Given the description of an element on the screen output the (x, y) to click on. 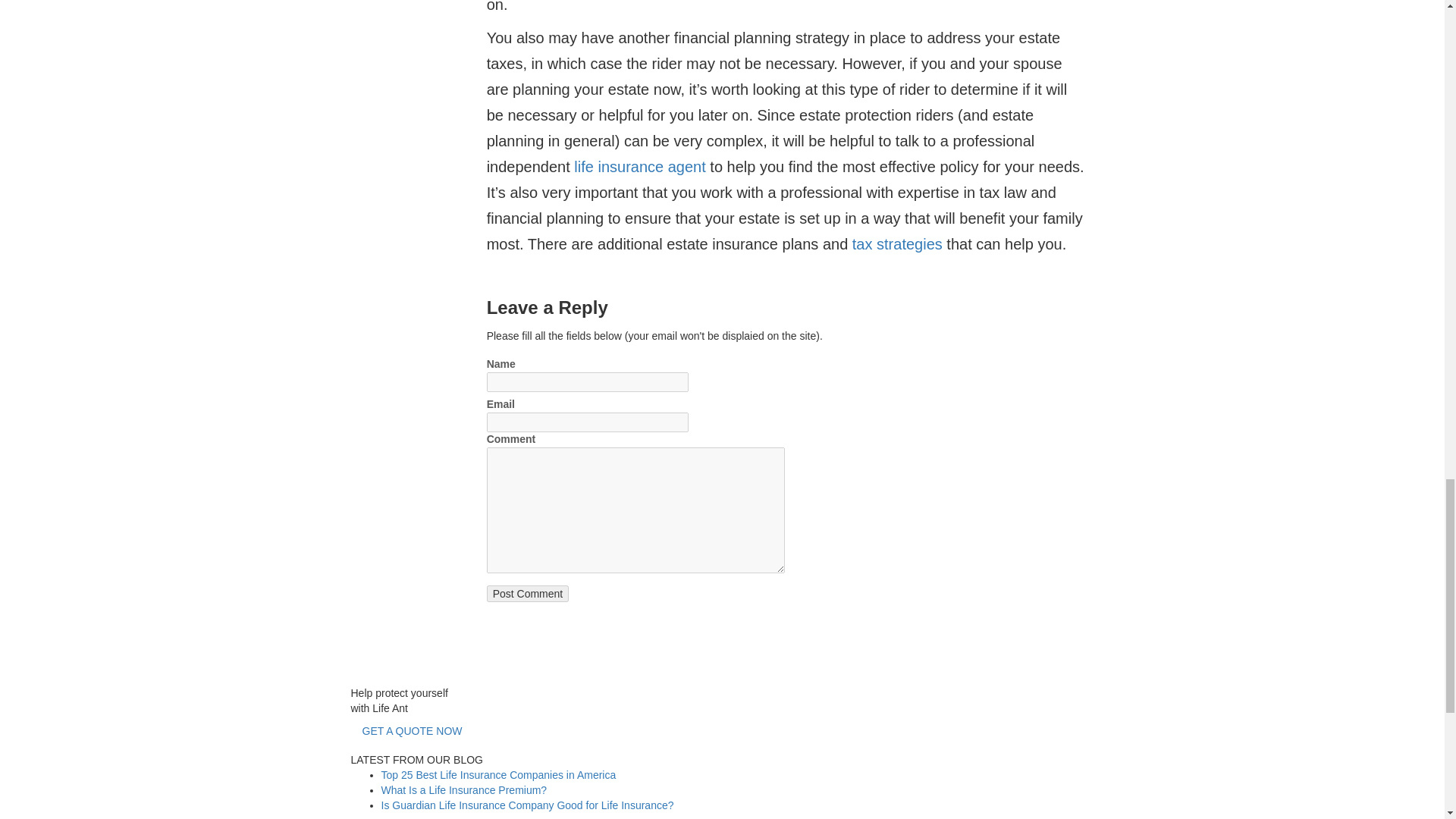
Permalink to What Is a Life Insurance Premium? (463, 789)
Permalink to Top 25 Best Life Insurance Companies in America (497, 775)
Post Comment (527, 593)
